Given the description of an element on the screen output the (x, y) to click on. 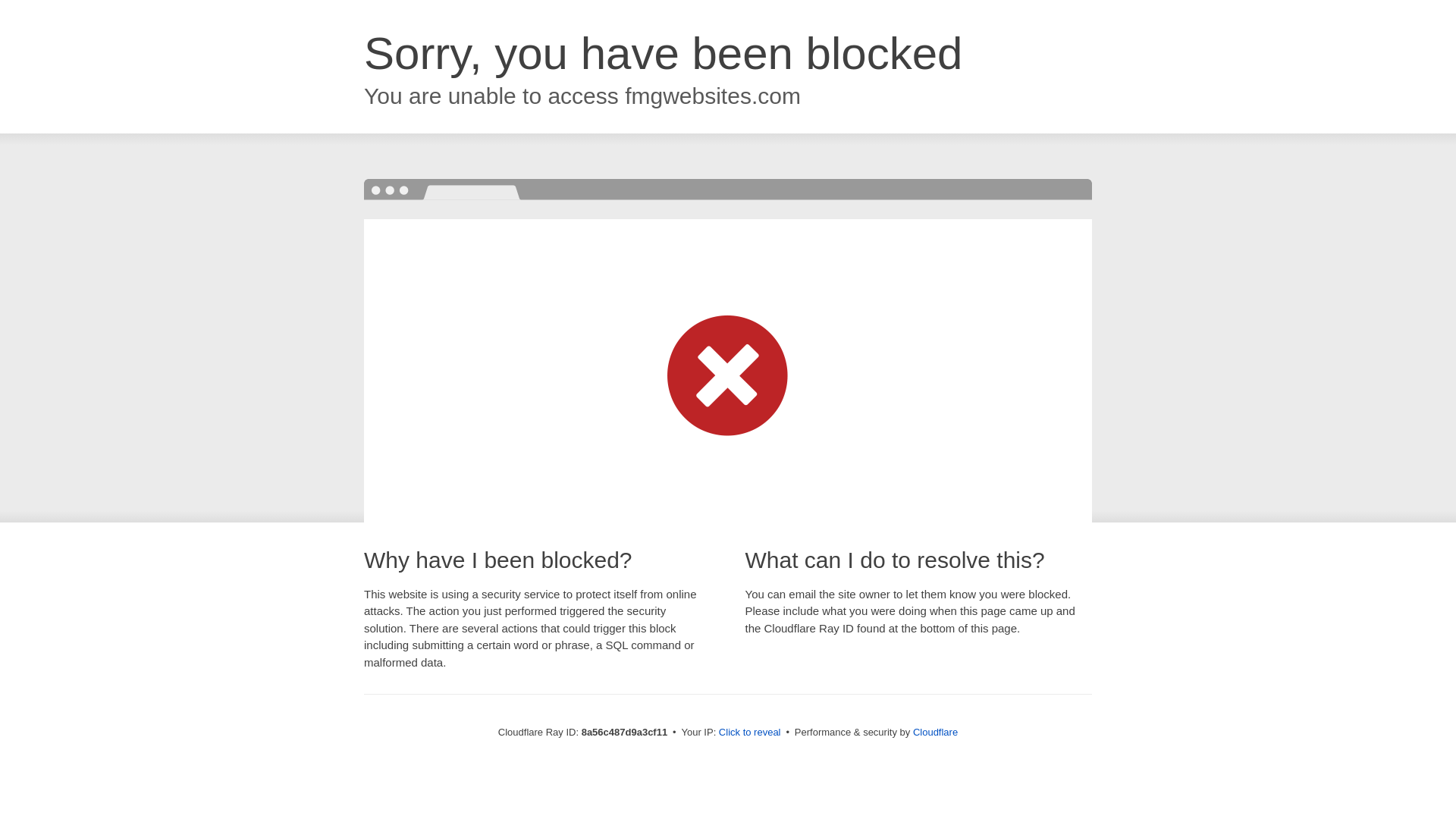
Click to reveal (749, 732)
Cloudflare (935, 731)
